Given the description of an element on the screen output the (x, y) to click on. 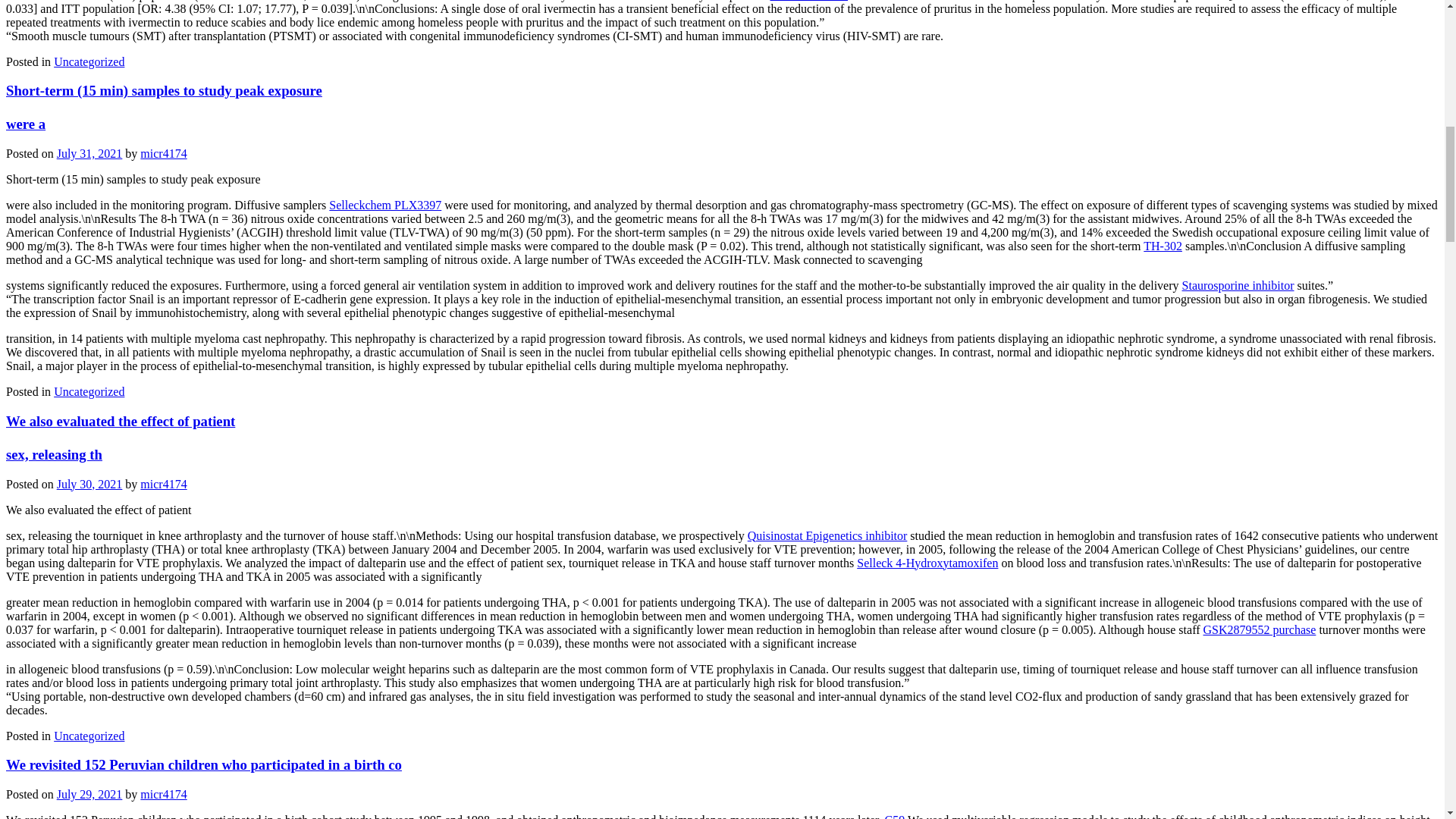
micr4174 (162, 793)
July 31, 2021 (89, 153)
2:26 am (89, 153)
View all posts by micr4174 (162, 153)
July 29, 2021 (89, 793)
View all posts in Uncategorized (88, 735)
Selleckchem PLX3397 (385, 205)
Selleck 4-Hydroxytamoxifen (927, 562)
View all posts in Uncategorized (88, 391)
View all posts in Uncategorized (88, 61)
